Given the description of an element on the screen output the (x, y) to click on. 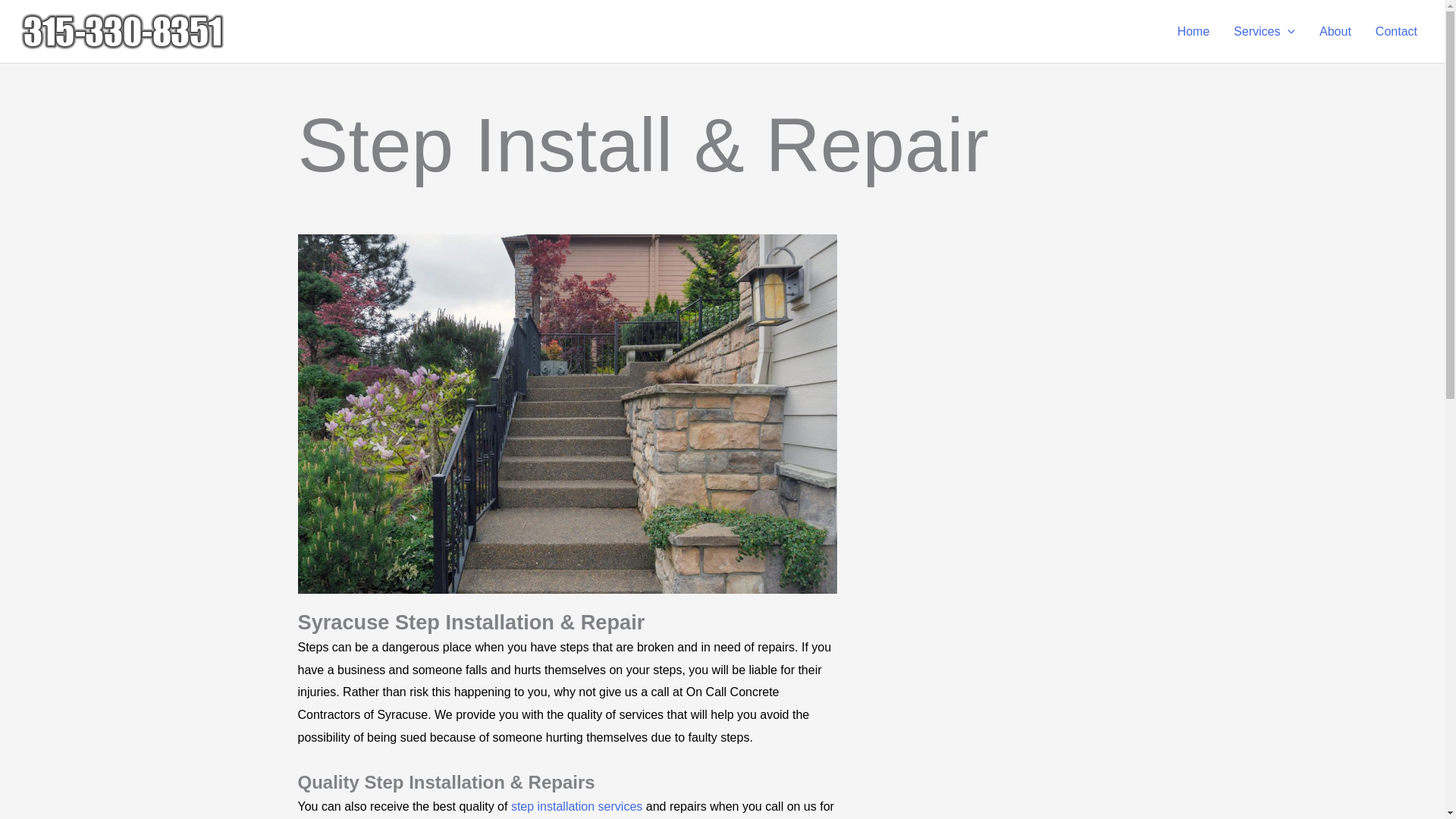
Contact (1395, 30)
Services (1264, 30)
About (1334, 30)
step installation services (576, 806)
Home (1192, 30)
